Given the description of an element on the screen output the (x, y) to click on. 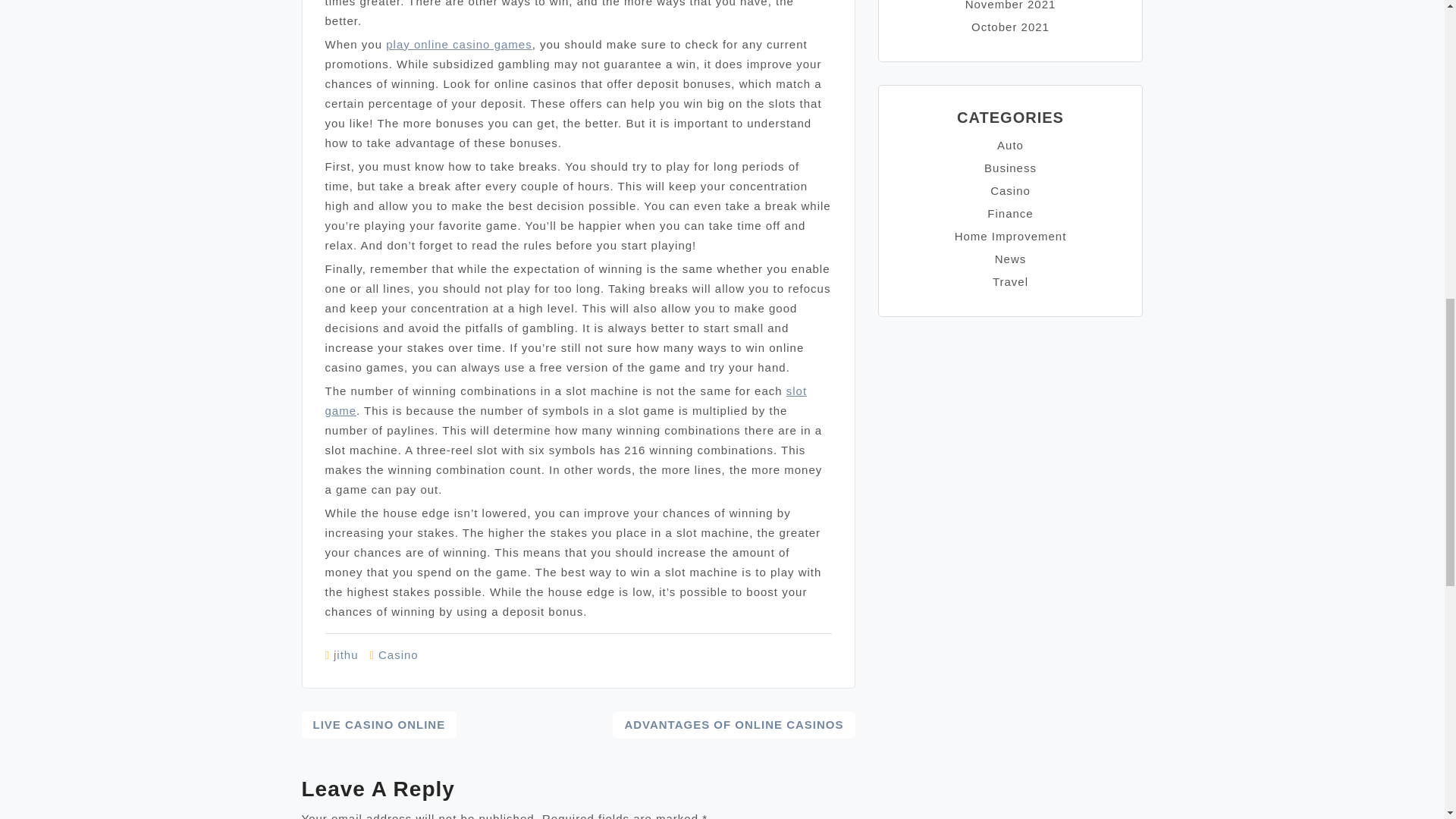
Finance (1009, 213)
slot game (565, 400)
ADVANTAGES OF ONLINE CASINOS (733, 724)
jithu (345, 654)
Home Improvement (1011, 236)
November 2021 (1011, 5)
News (1010, 258)
Travel (1009, 281)
play online casino games (458, 43)
Auto (1010, 144)
